Given the description of an element on the screen output the (x, y) to click on. 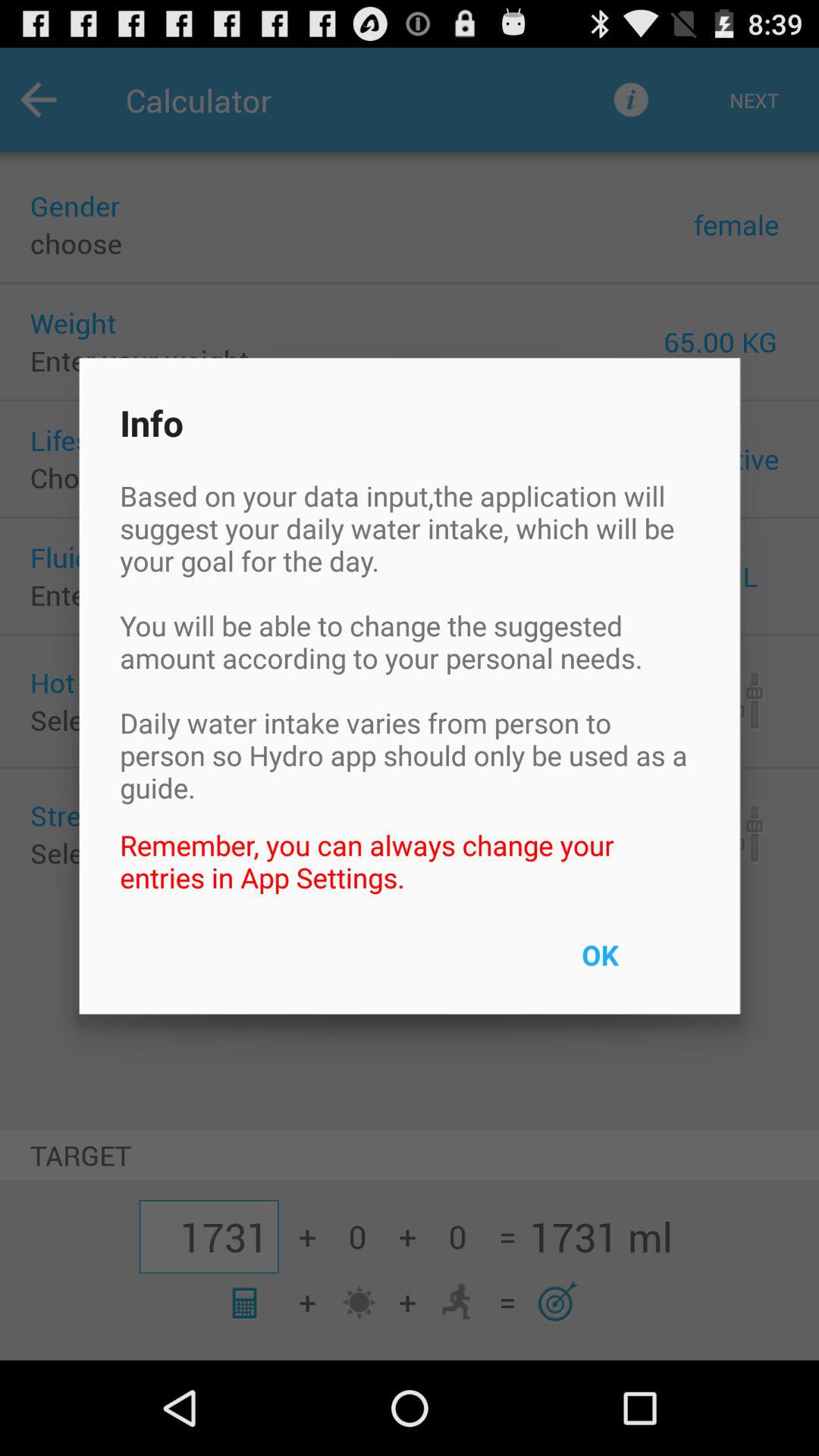
click the ok icon (634, 964)
